Given the description of an element on the screen output the (x, y) to click on. 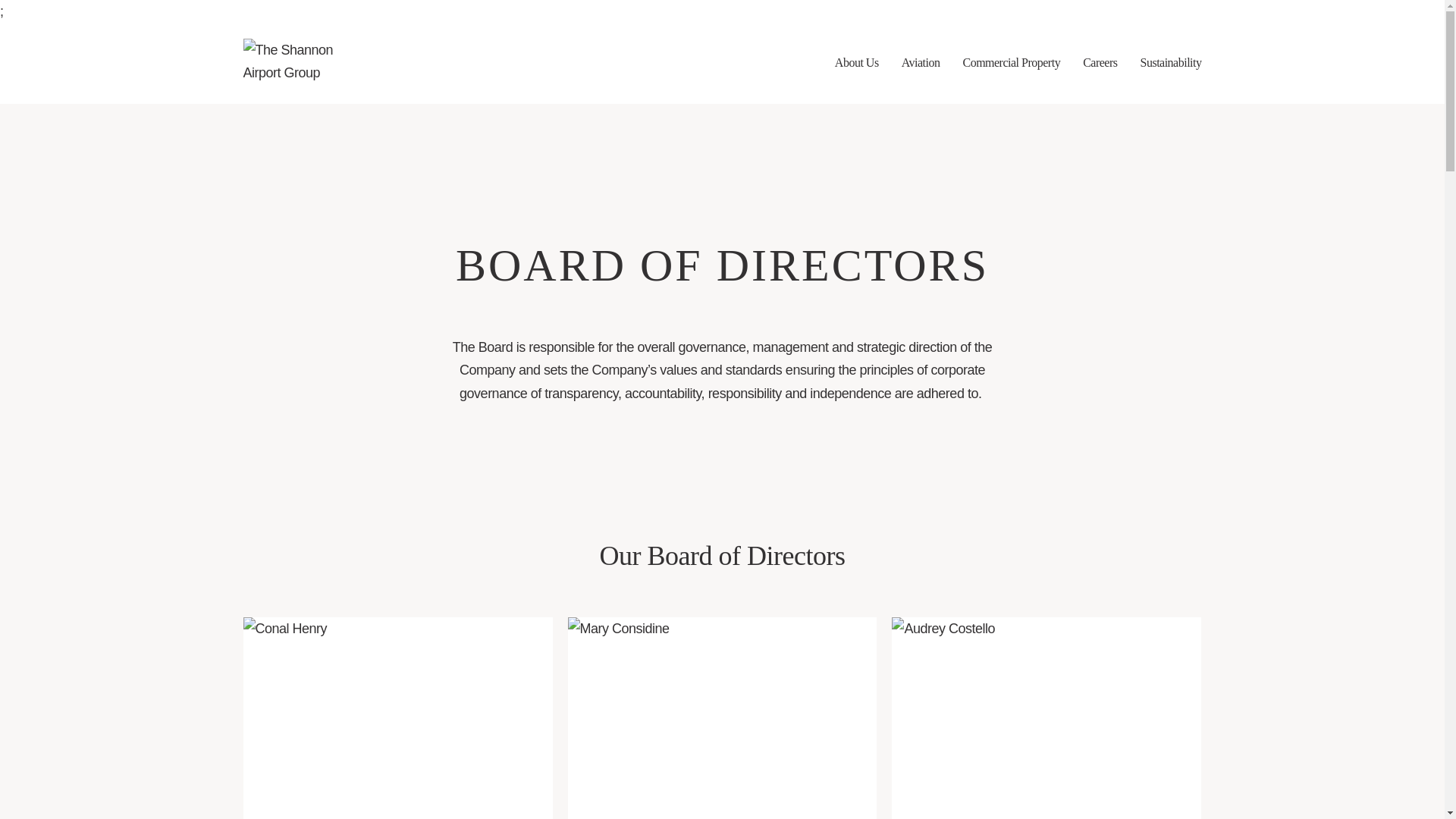
Aviation (920, 63)
About Us (856, 63)
The Shannon Airport Group (289, 63)
